Given the description of an element on the screen output the (x, y) to click on. 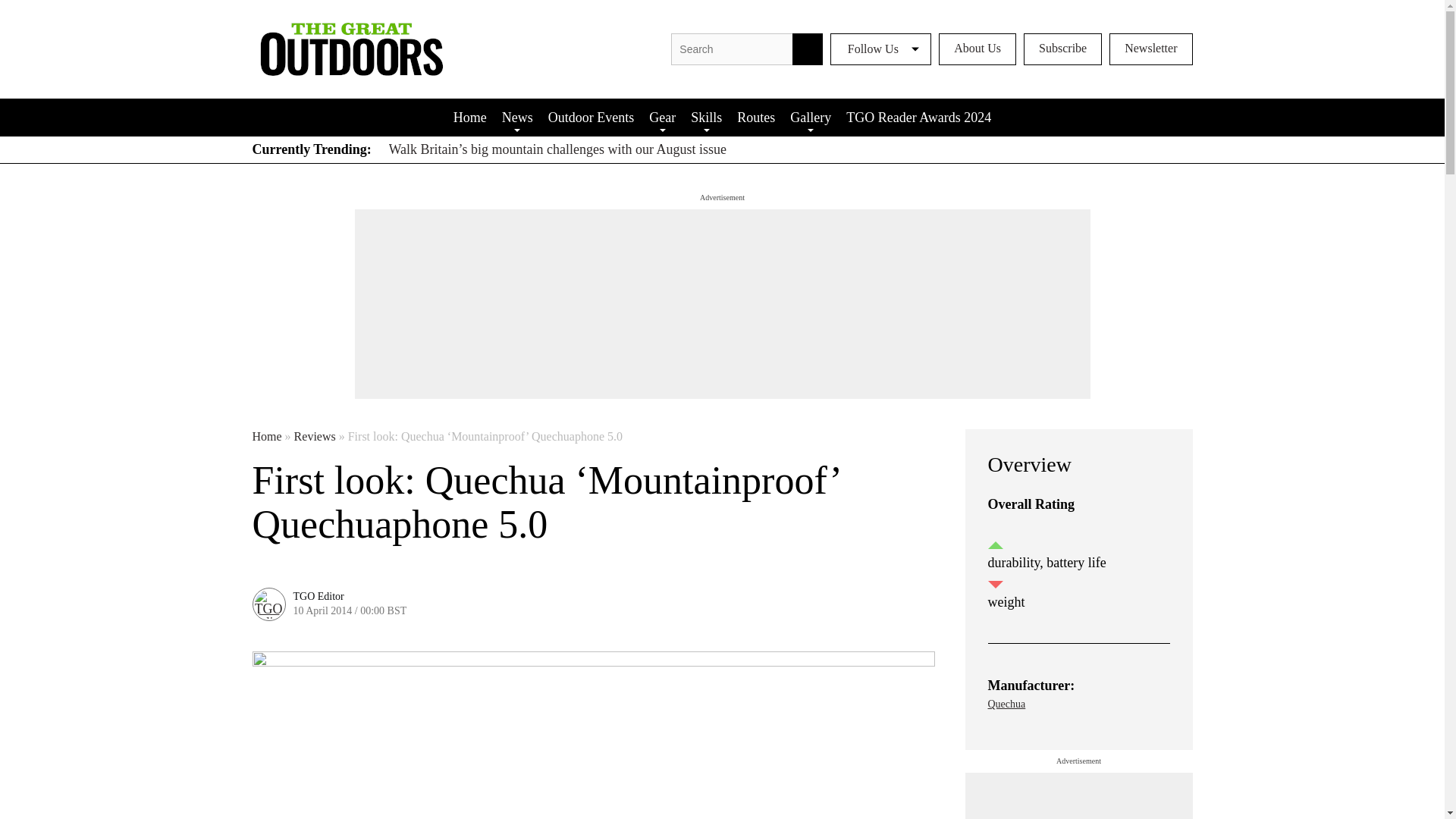
Outdoor Events (591, 117)
News (517, 117)
TGO Reader Awards 2024 (918, 117)
Gallery (810, 117)
Routes (756, 117)
Home (470, 117)
Newsletter (1150, 49)
Gear (662, 117)
Subscribe (1062, 49)
About Us (977, 49)
Follow Us (880, 49)
Skills (705, 117)
Search (807, 49)
